Given the description of an element on the screen output the (x, y) to click on. 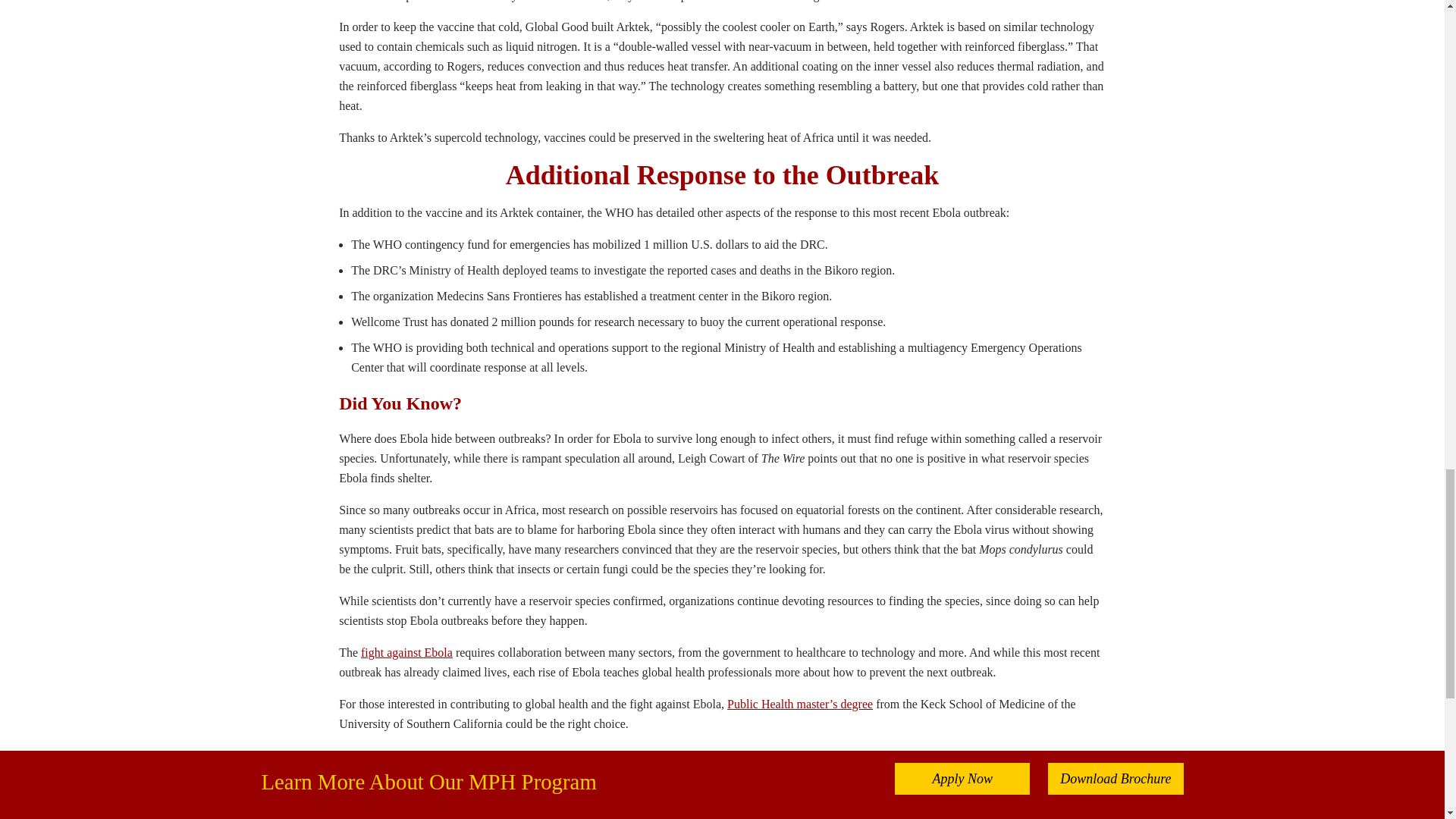
Wired (353, 787)
BBC (350, 816)
fight against Ebola (406, 652)
